Given the description of an element on the screen output the (x, y) to click on. 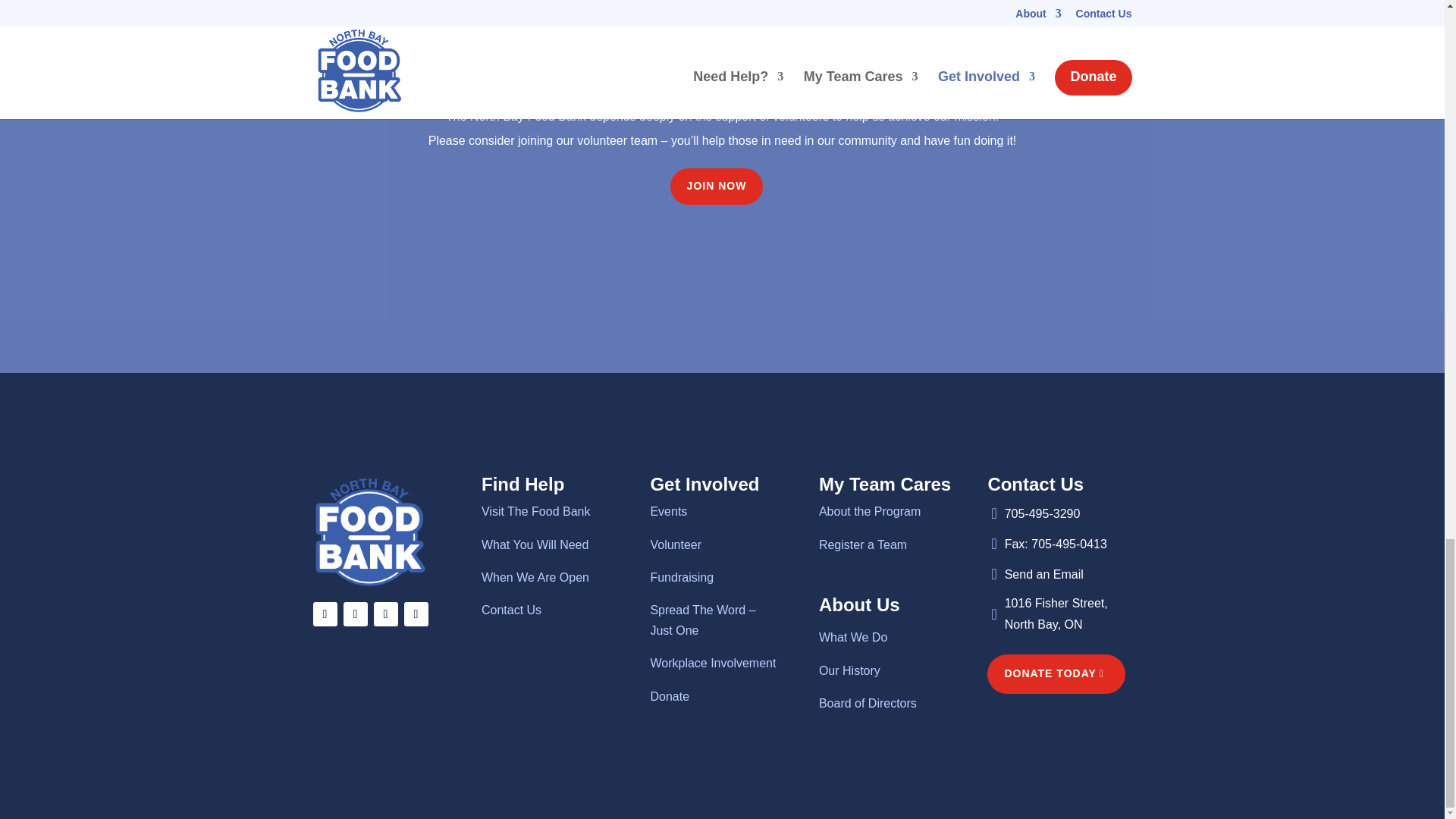
Follow (415, 613)
Follow (384, 613)
Follow on Facebook (324, 613)
Follow (324, 613)
Follow (354, 613)
When We Are Open (535, 576)
JOIN NOW (715, 186)
Follow on LinkedIn (415, 613)
Visit The Food Bank (536, 511)
What You Will Need (534, 544)
